Given the description of an element on the screen output the (x, y) to click on. 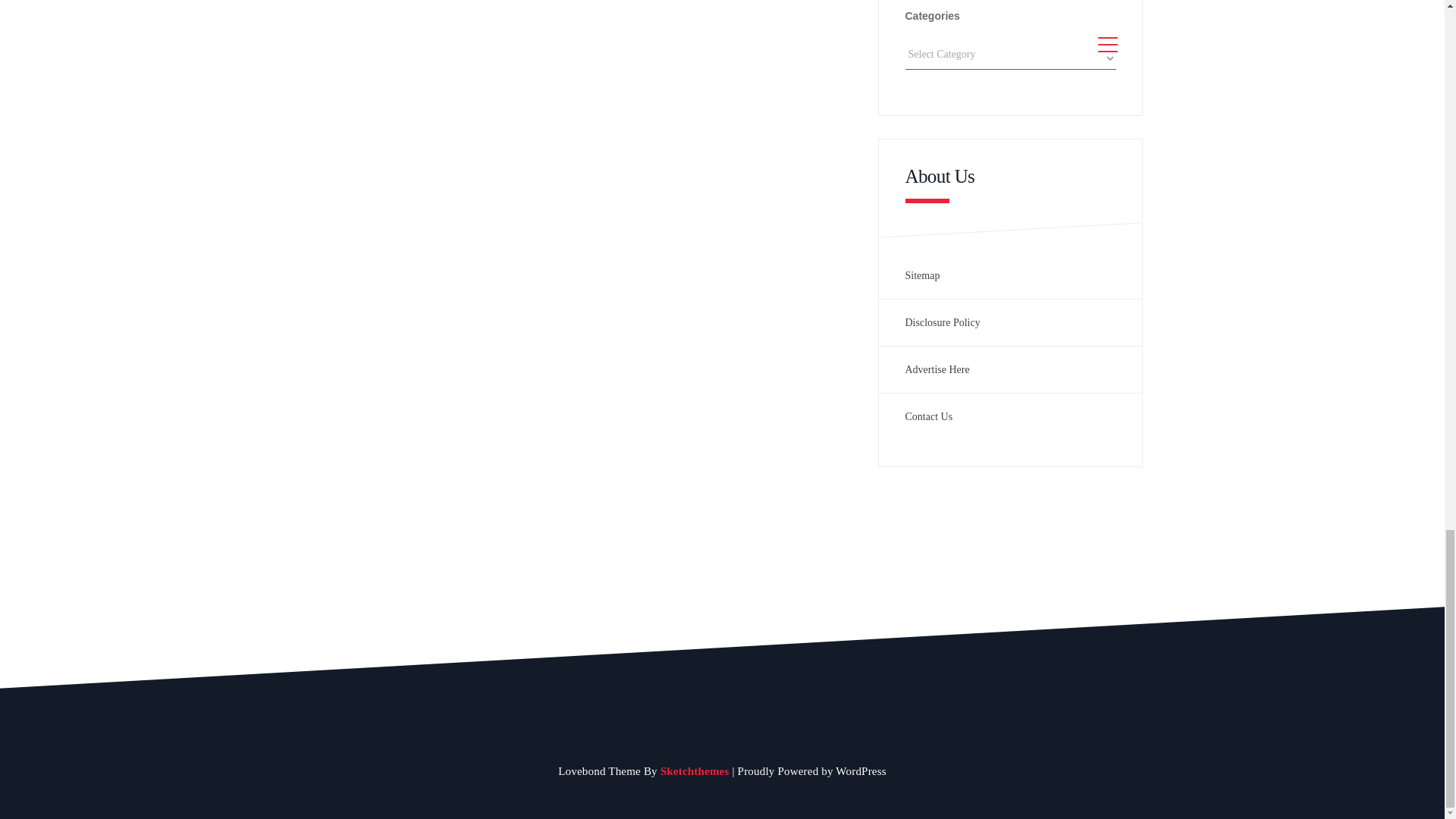
Sitemap (922, 275)
Disclosure Policy (942, 322)
